Given the description of an element on the screen output the (x, y) to click on. 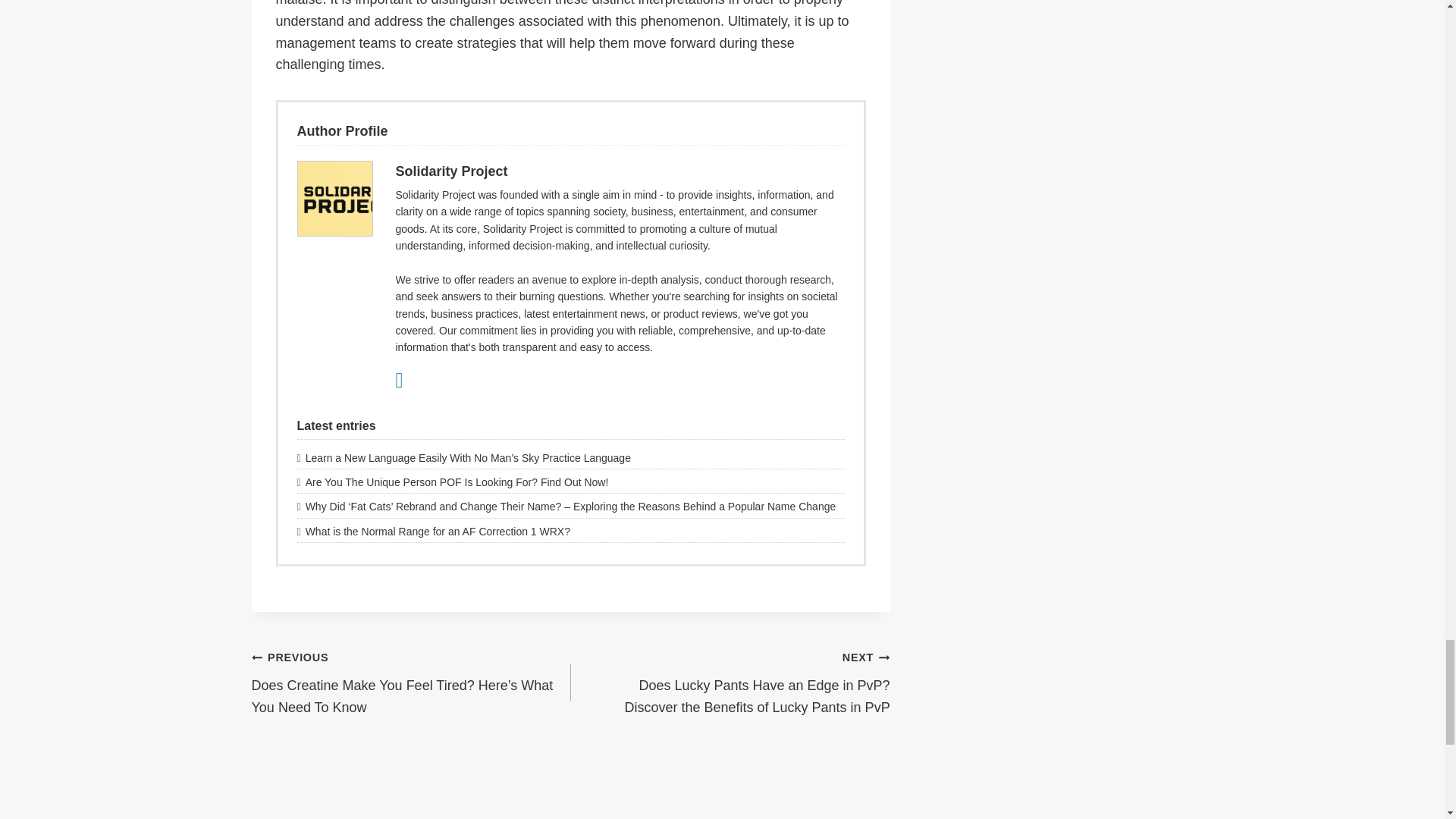
Are You The Unique Person POF Is Looking For? Find Out Now! (570, 482)
What is the Normal Range for an AF Correction 1 WRX? (570, 531)
